Given the description of an element on the screen output the (x, y) to click on. 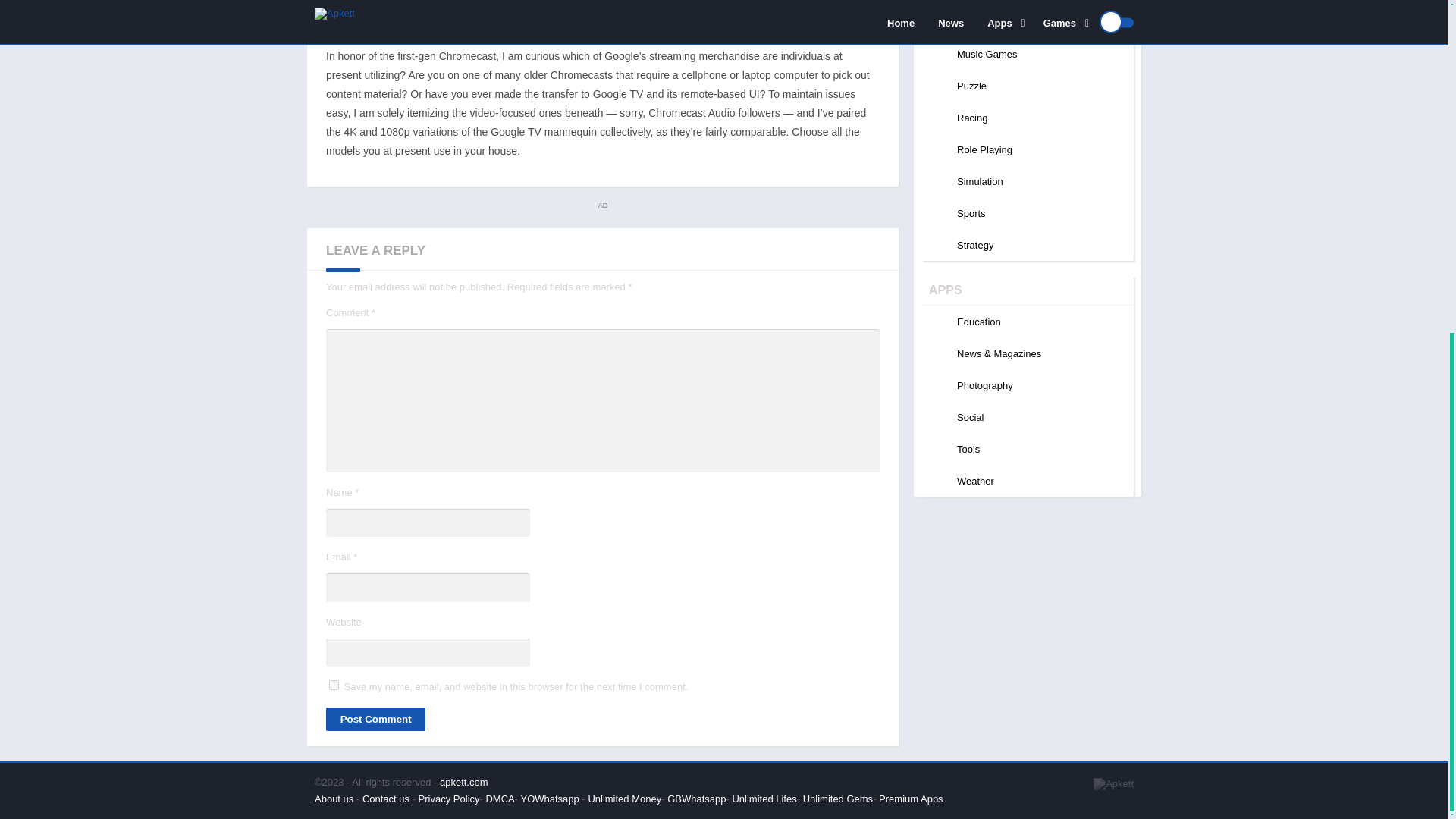
yes (334, 685)
Post Comment (375, 719)
